Given the description of an element on the screen output the (x, y) to click on. 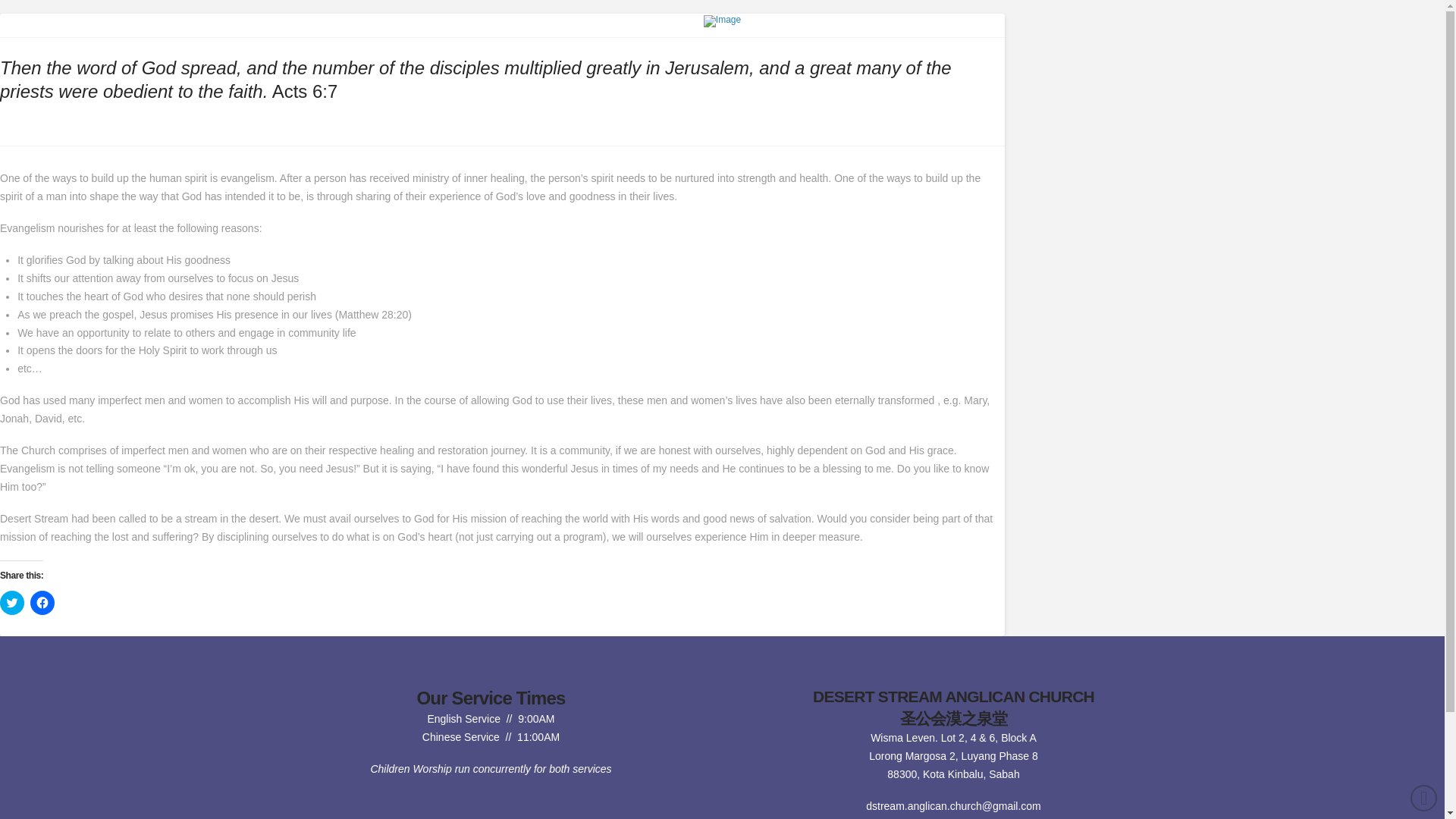
Back to Top (1423, 797)
Click to share on Twitter (12, 602)
Click to share on Facebook (42, 602)
